Given the description of an element on the screen output the (x, y) to click on. 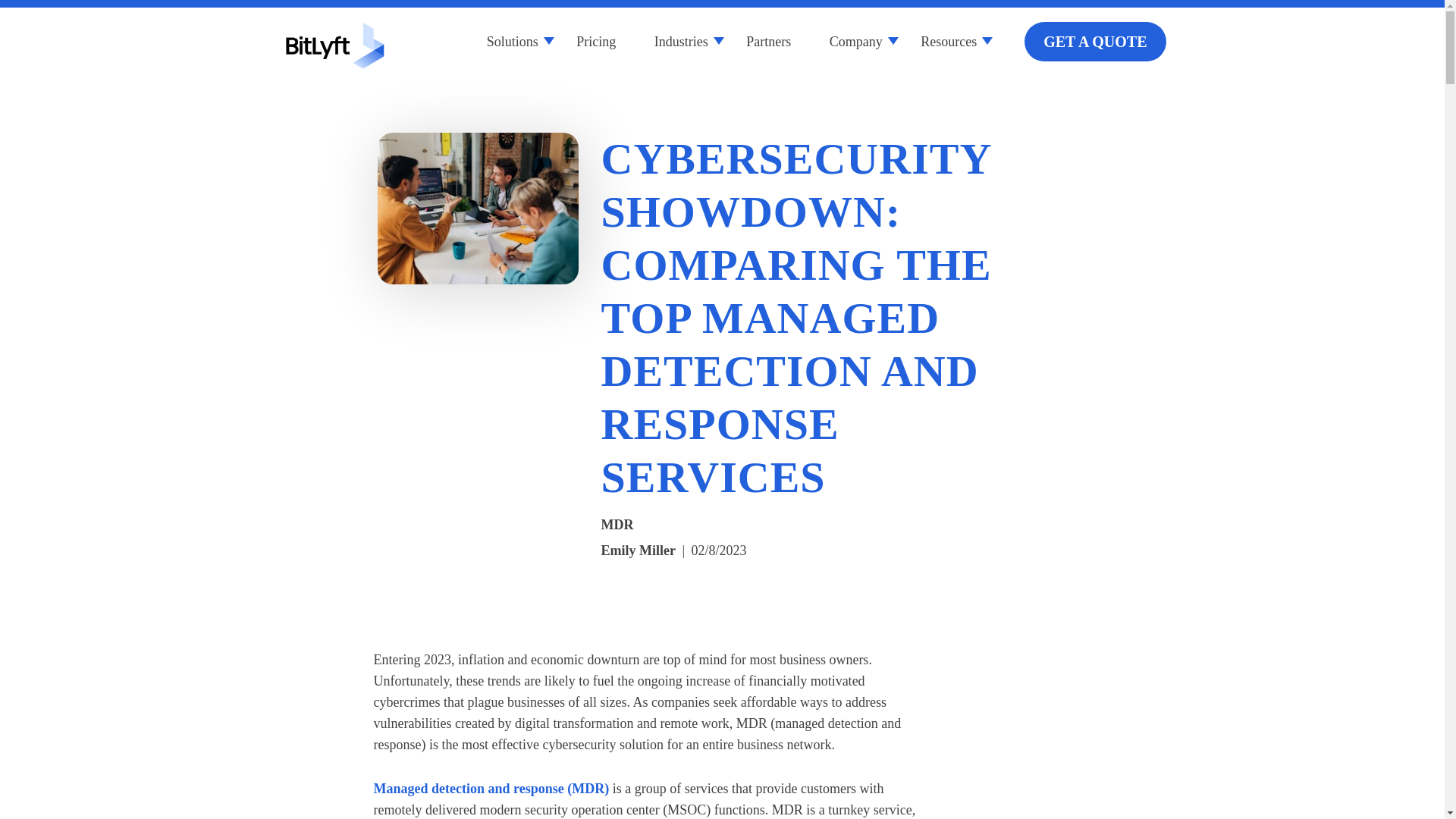
Partners (767, 41)
Company (856, 41)
Emily Miller (637, 549)
GET A QUOTE (1095, 41)
MDR (616, 524)
Solutions (512, 41)
Industries (680, 41)
Pricing (595, 41)
Resources (948, 41)
